Given the description of an element on the screen output the (x, y) to click on. 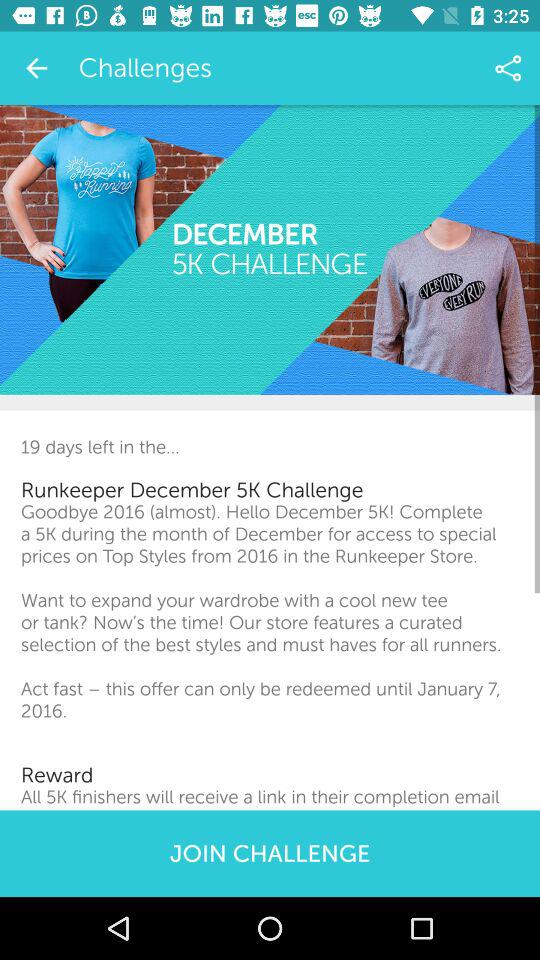
launch item next to the challenges (508, 67)
